Given the description of an element on the screen output the (x, y) to click on. 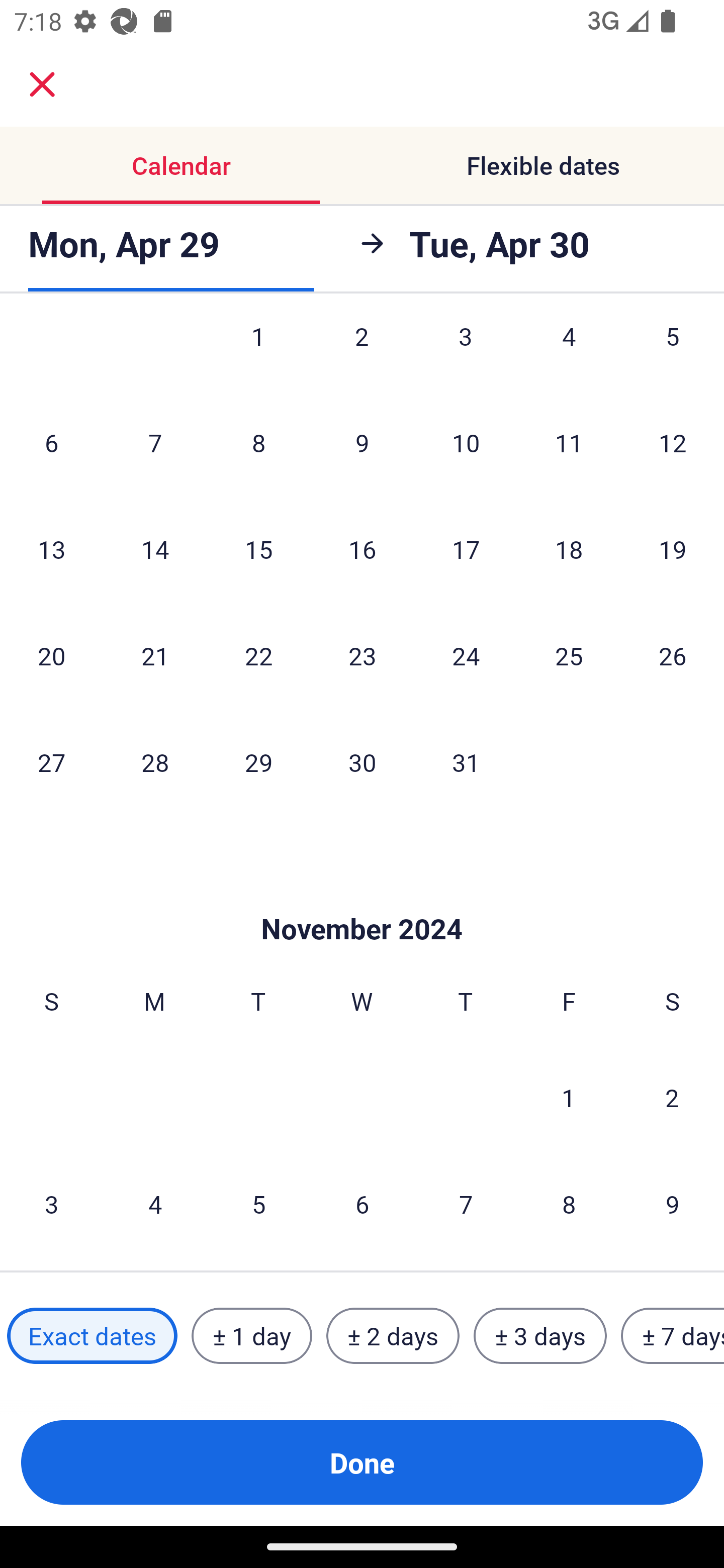
close. (42, 84)
Flexible dates (542, 164)
1 Tuesday, October 1, 2024 (257, 354)
2 Wednesday, October 2, 2024 (361, 354)
3 Thursday, October 3, 2024 (465, 354)
4 Friday, October 4, 2024 (569, 354)
5 Saturday, October 5, 2024 (672, 354)
6 Sunday, October 6, 2024 (51, 441)
7 Monday, October 7, 2024 (155, 441)
8 Tuesday, October 8, 2024 (258, 441)
9 Wednesday, October 9, 2024 (362, 441)
10 Thursday, October 10, 2024 (465, 441)
11 Friday, October 11, 2024 (569, 441)
12 Saturday, October 12, 2024 (672, 441)
13 Sunday, October 13, 2024 (51, 548)
14 Monday, October 14, 2024 (155, 548)
15 Tuesday, October 15, 2024 (258, 548)
16 Wednesday, October 16, 2024 (362, 548)
17 Thursday, October 17, 2024 (465, 548)
18 Friday, October 18, 2024 (569, 548)
19 Saturday, October 19, 2024 (672, 548)
20 Sunday, October 20, 2024 (51, 655)
21 Monday, October 21, 2024 (155, 655)
22 Tuesday, October 22, 2024 (258, 655)
23 Wednesday, October 23, 2024 (362, 655)
24 Thursday, October 24, 2024 (465, 655)
25 Friday, October 25, 2024 (569, 655)
26 Saturday, October 26, 2024 (672, 655)
27 Sunday, October 27, 2024 (51, 761)
28 Monday, October 28, 2024 (155, 761)
29 Tuesday, October 29, 2024 (258, 761)
30 Wednesday, October 30, 2024 (362, 761)
31 Thursday, October 31, 2024 (465, 761)
Skip to Done (362, 898)
1 Friday, November 1, 2024 (568, 1097)
2 Saturday, November 2, 2024 (672, 1097)
3 Sunday, November 3, 2024 (51, 1203)
4 Monday, November 4, 2024 (155, 1203)
5 Tuesday, November 5, 2024 (258, 1203)
6 Wednesday, November 6, 2024 (362, 1203)
7 Thursday, November 7, 2024 (465, 1203)
8 Friday, November 8, 2024 (569, 1203)
9 Saturday, November 9, 2024 (672, 1203)
Exact dates (92, 1335)
± 1 day (251, 1335)
± 2 days (392, 1335)
± 3 days (539, 1335)
± 7 days (672, 1335)
Done (361, 1462)
